Given the description of an element on the screen output the (x, y) to click on. 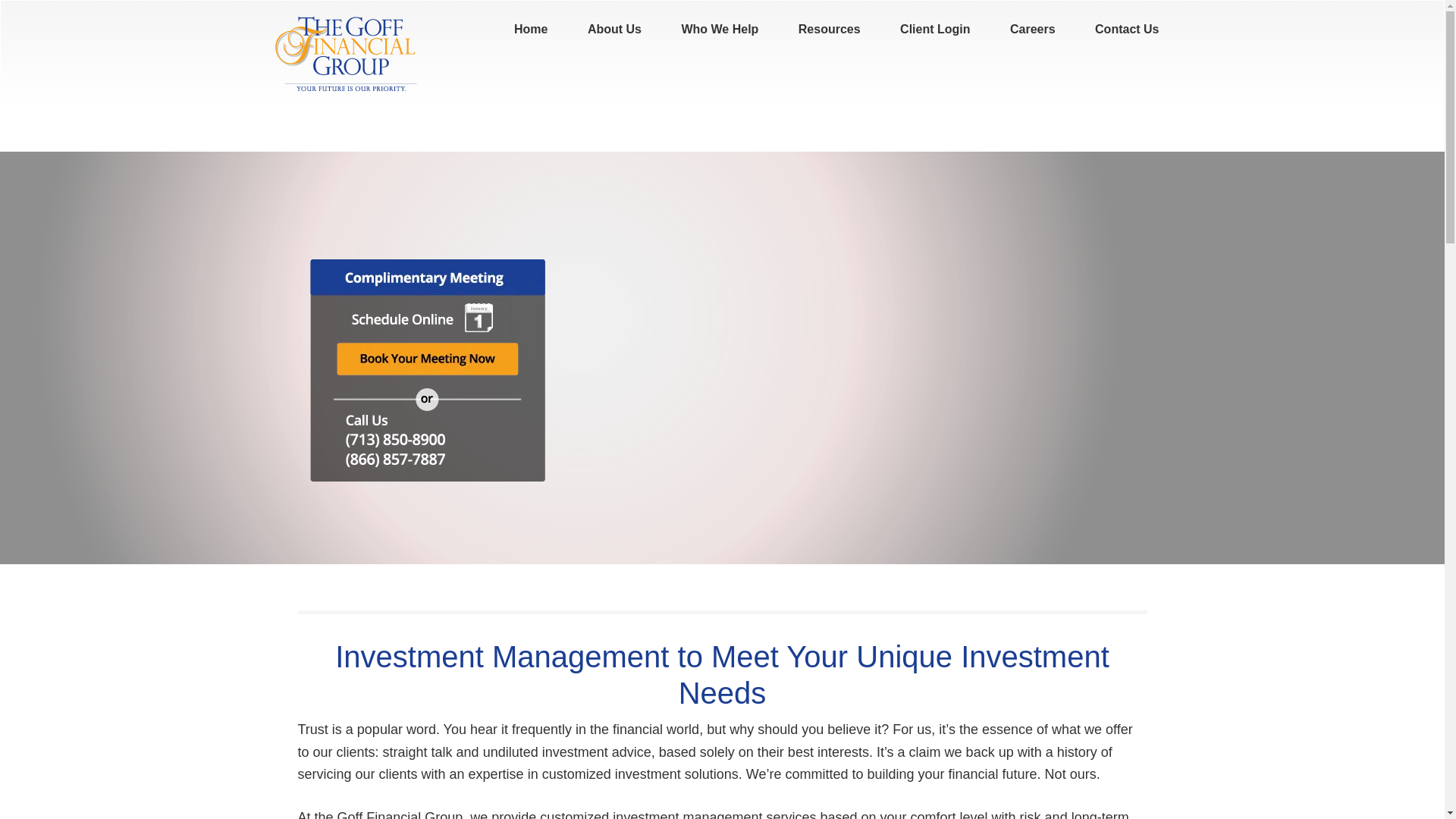
Contact Us (1126, 29)
Home (531, 29)
About Us (614, 29)
The Goff Financial Group (347, 53)
Careers (1032, 29)
Client Login (935, 29)
Who We Help (719, 29)
Resources (829, 29)
